Given the description of an element on the screen output the (x, y) to click on. 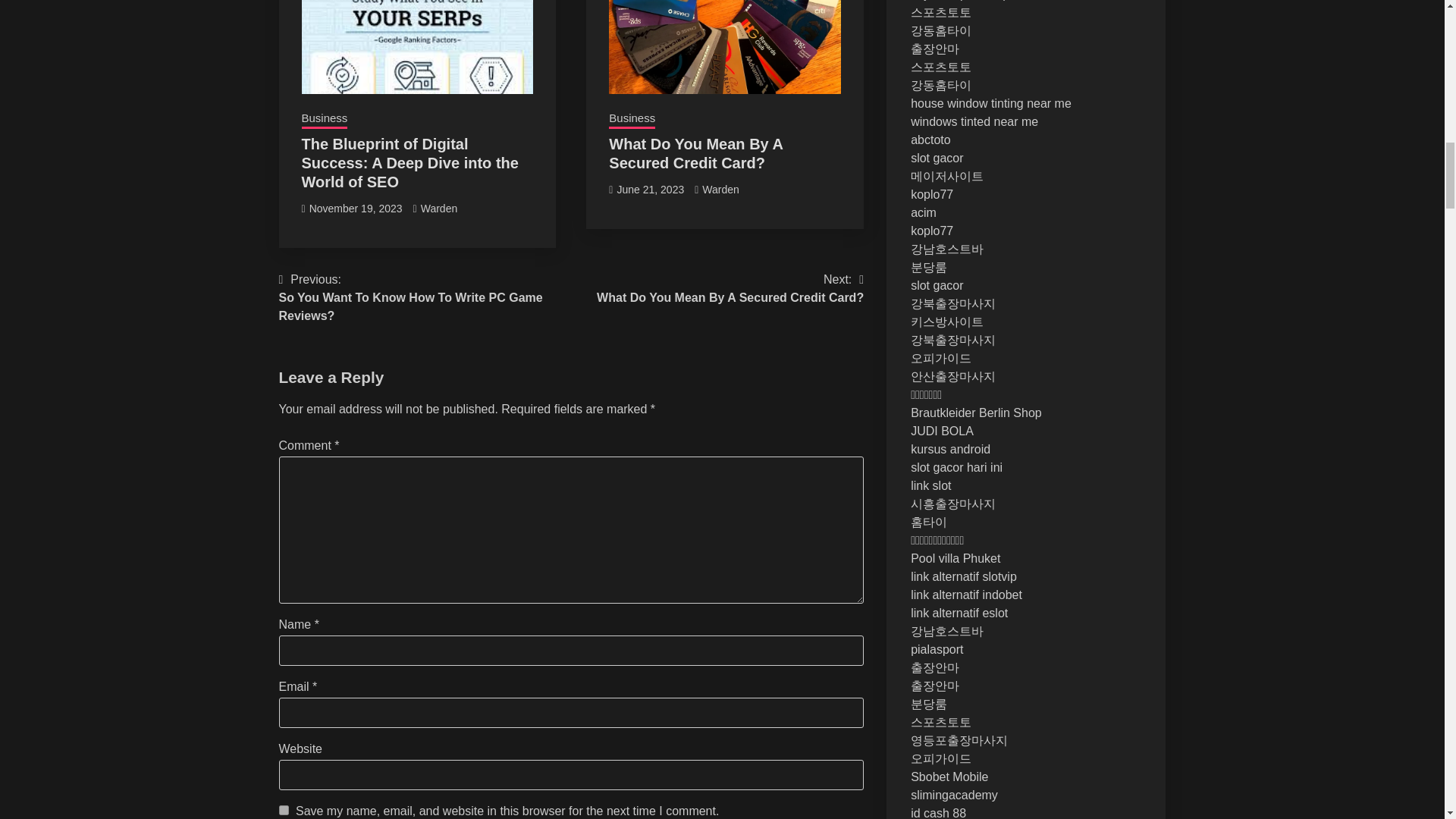
yes (283, 809)
Business (324, 119)
Warden (439, 208)
June 21, 2023 (649, 189)
Business (631, 119)
Warden (729, 289)
November 19, 2023 (720, 189)
What Do You Mean By A Secured Credit Card? (355, 208)
